Given the description of an element on the screen output the (x, y) to click on. 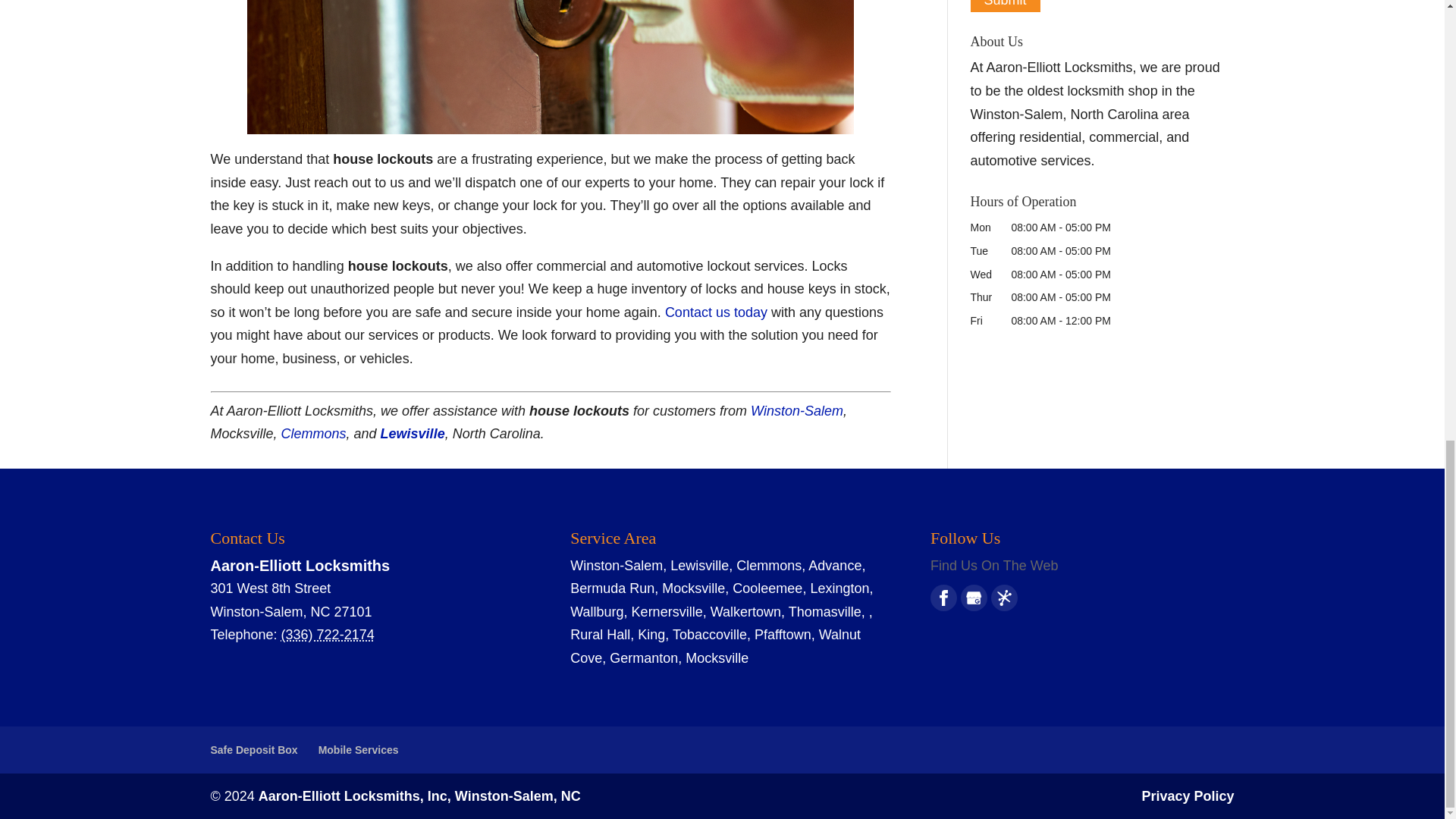
Facebook (944, 597)
Submit (1006, 6)
Clemmons (313, 433)
Google My Business (973, 597)
Facebook (943, 597)
Lewisville (412, 433)
Submit (1006, 6)
Jackpage (1004, 597)
Google My Business (973, 597)
Jackpage (1003, 597)
